Given the description of an element on the screen output the (x, y) to click on. 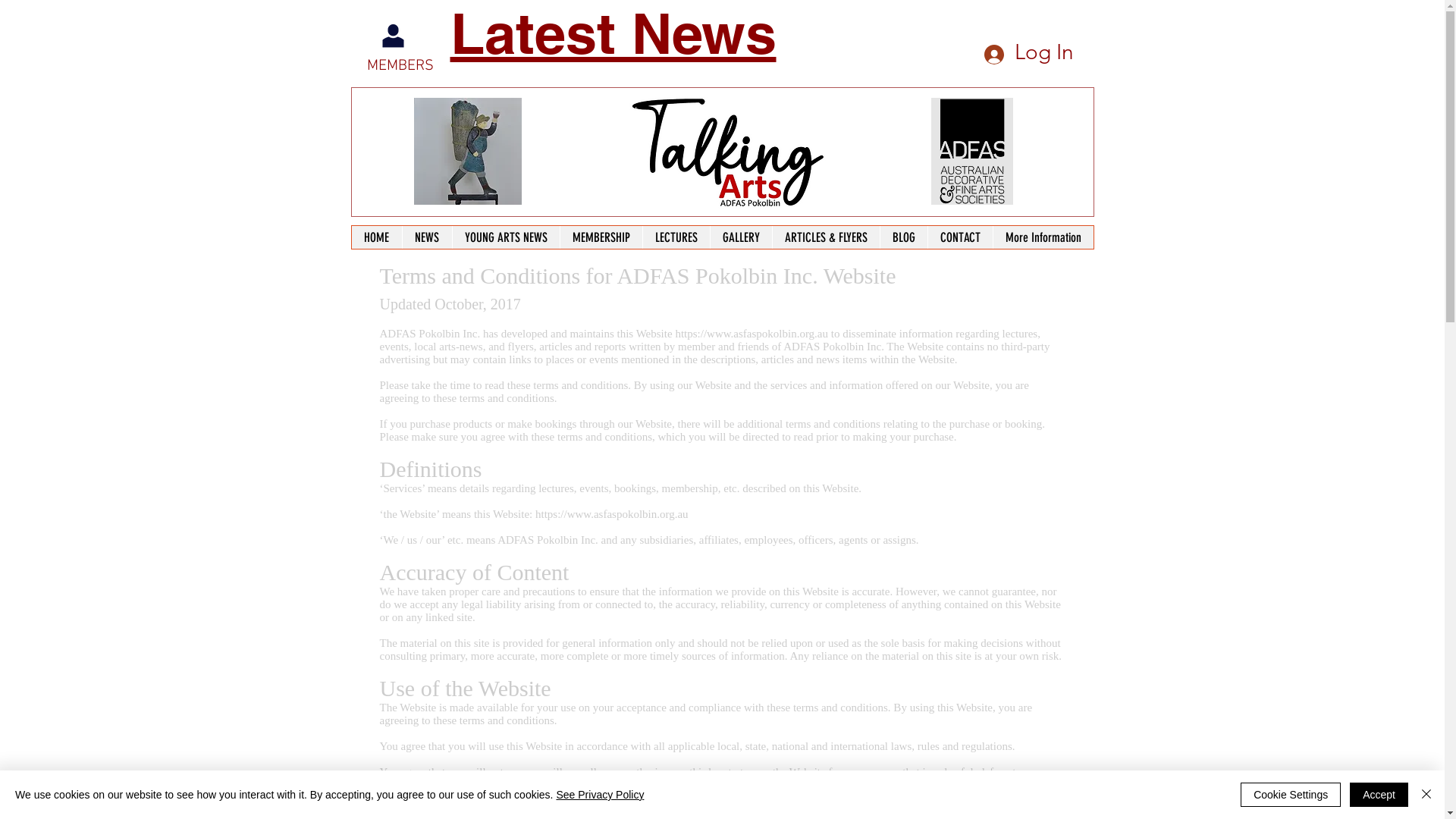
Log In Element type: text (1028, 51)
MEMBERSHIP Element type: text (600, 236)
CONTACT Element type: text (958, 236)
YOUNG ARTS NEWS Element type: text (505, 236)
See Privacy Policy Element type: text (599, 794)
GALLERY Element type: text (740, 236)
Accept Element type: text (1378, 794)
NEWS Element type: text (426, 236)
Cookie Settings Element type: text (1290, 794)
BLOG Element type: text (903, 236)
ARTICLES & FLYERS Element type: text (825, 236)
https://www.asfaspokolbin.org.au Element type: text (751, 333)
LECTURES Element type: text (675, 236)
HOME Element type: text (376, 236)
